Given the description of an element on the screen output the (x, y) to click on. 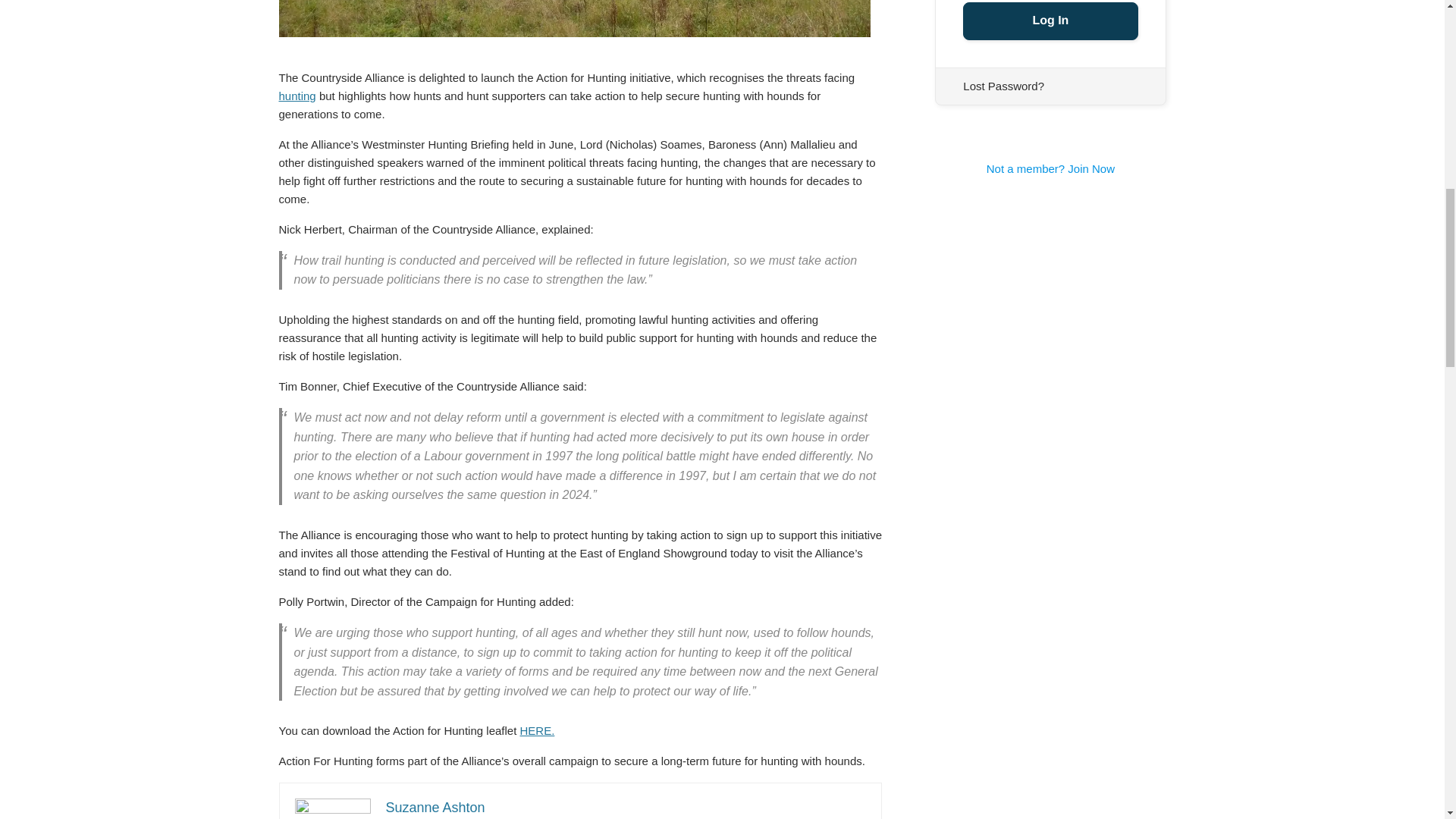
Log In (1049, 21)
